Given the description of an element on the screen output the (x, y) to click on. 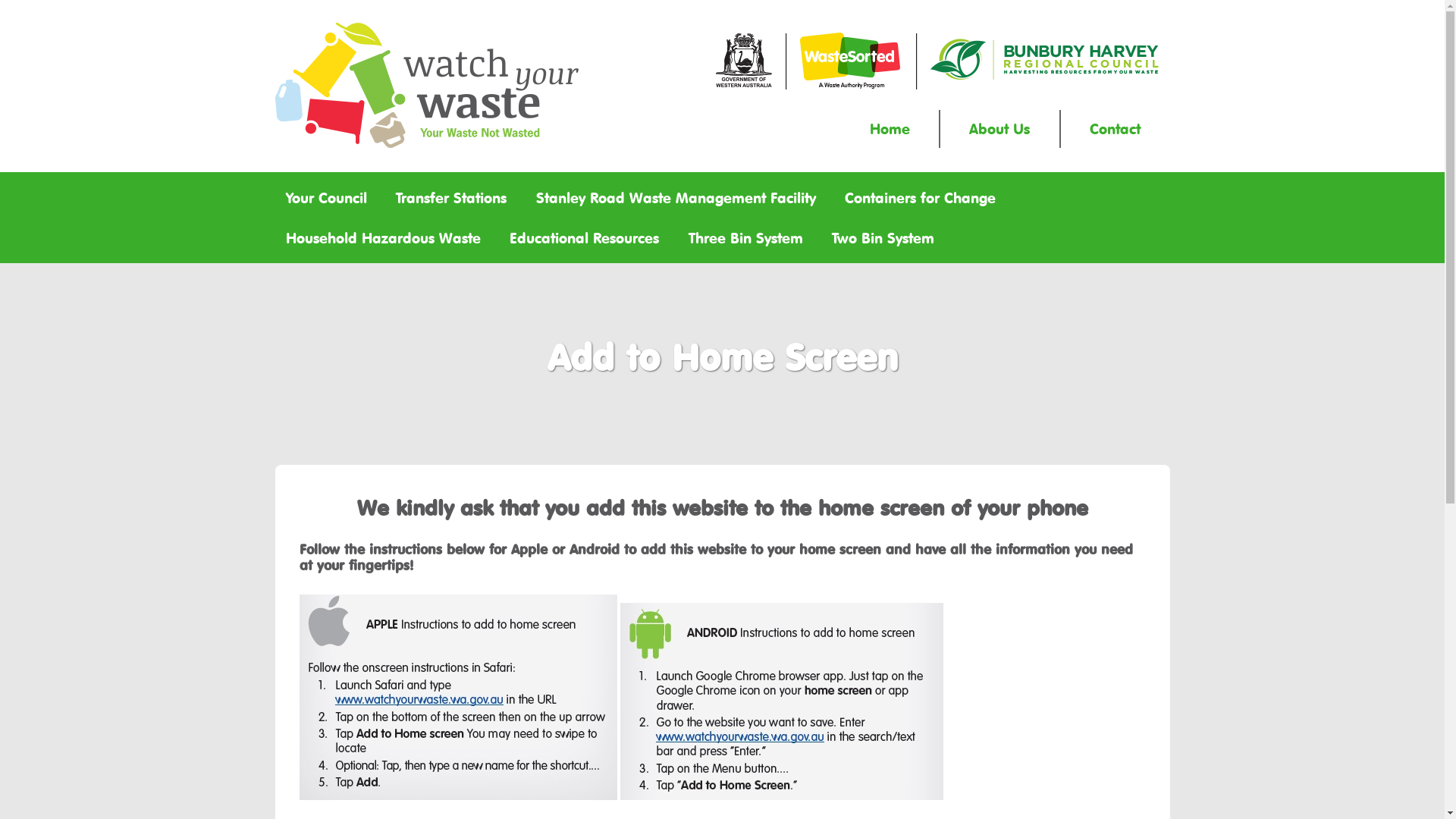
Stanley Road Waste Management Facility Element type: text (675, 197)
Household Hazardous Waste Element type: text (382, 237)
Home Element type: text (889, 128)
Your Council Element type: text (325, 197)
About Us Element type: text (999, 128)
Contact Element type: text (1115, 128)
Three Bin System Element type: text (745, 237)
Educational Resources Element type: text (584, 237)
Two Bin System Element type: text (883, 237)
Transfer Stations Element type: text (451, 197)
Containers for Change Element type: text (920, 197)
